Given the description of an element on the screen output the (x, y) to click on. 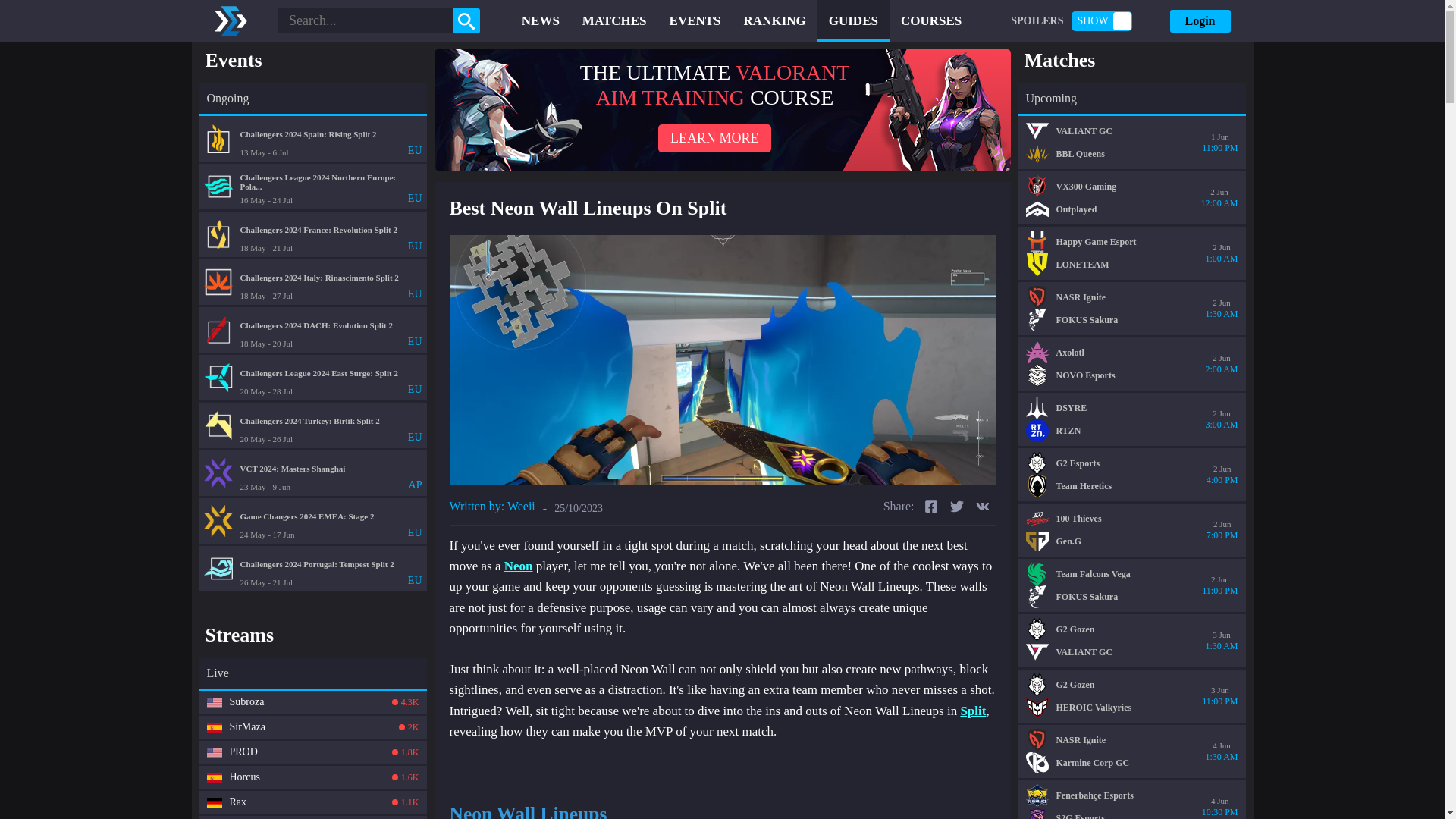
United States of America (312, 726)
Neon (721, 109)
Spain (213, 752)
EVENTS (312, 473)
United States of America (517, 565)
COURSES (312, 817)
NEWS (213, 726)
